Given the description of an element on the screen output the (x, y) to click on. 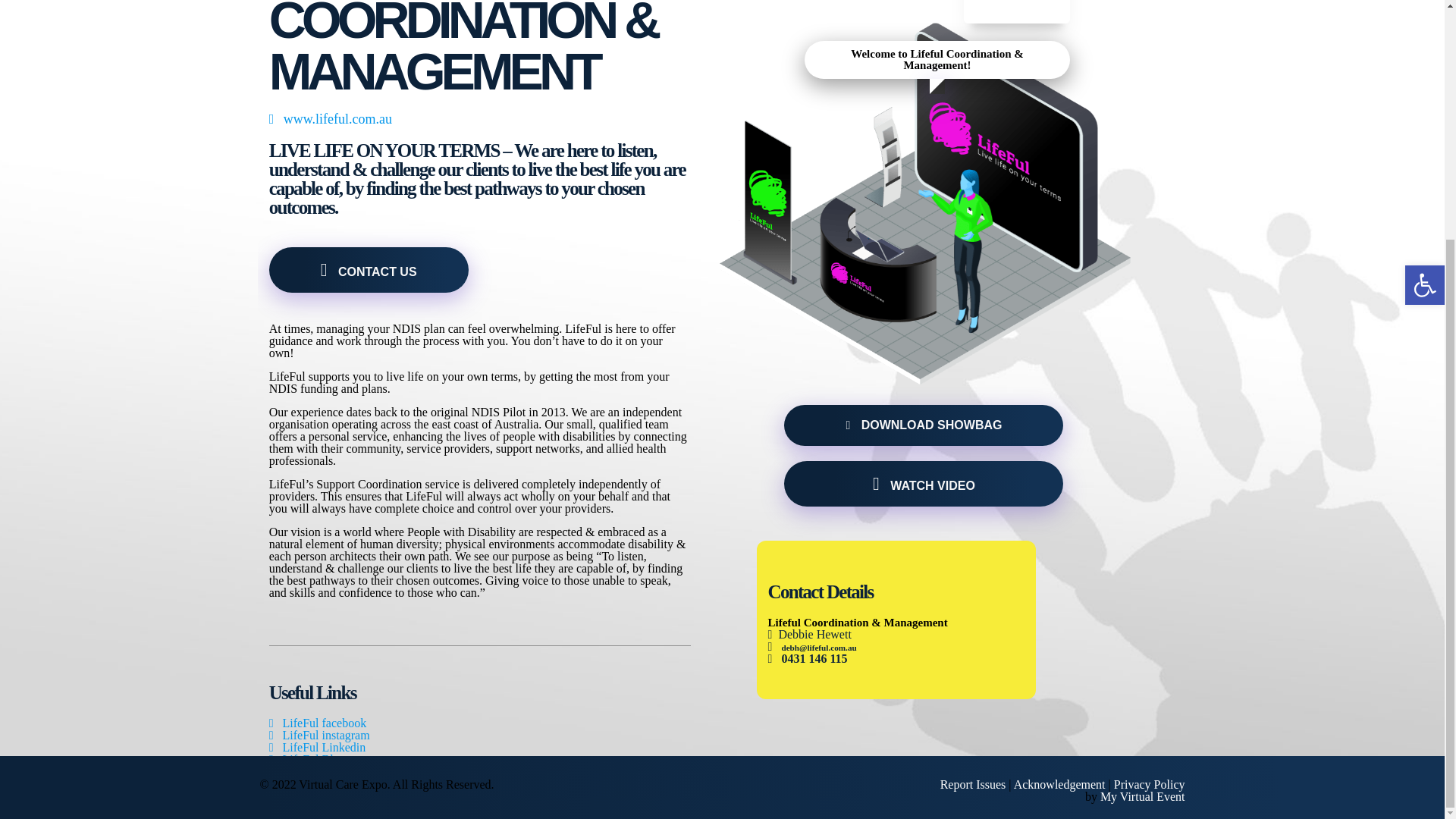
www.lifeful.com.au (330, 118)
